Given the description of an element on the screen output the (x, y) to click on. 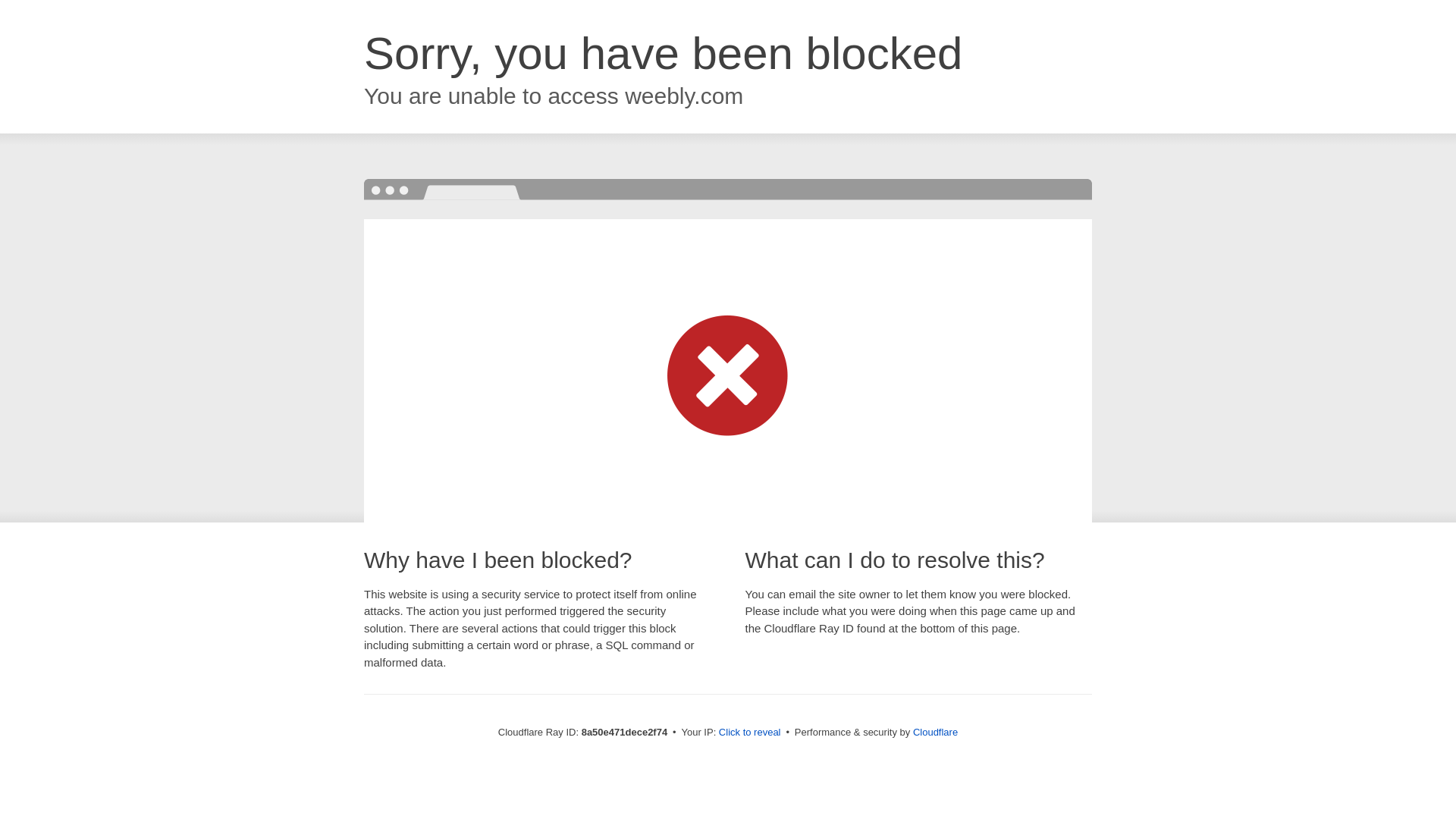
Cloudflare (935, 731)
Click to reveal (749, 732)
